Given the description of an element on the screen output the (x, y) to click on. 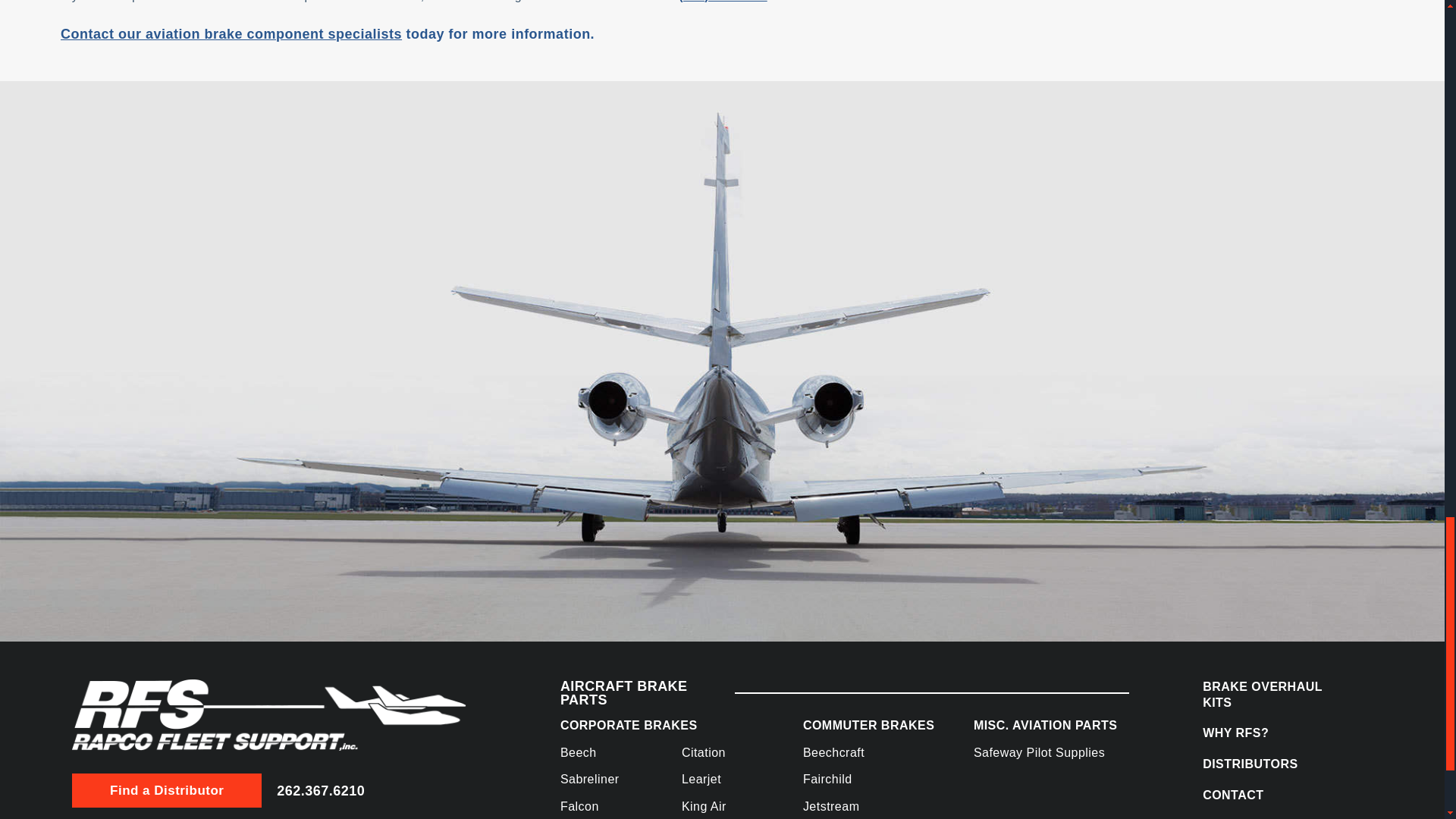
262.367.6210 (320, 790)
Find a Distributor (166, 790)
Contact our aviation brake component specialists (231, 33)
